Given the description of an element on the screen output the (x, y) to click on. 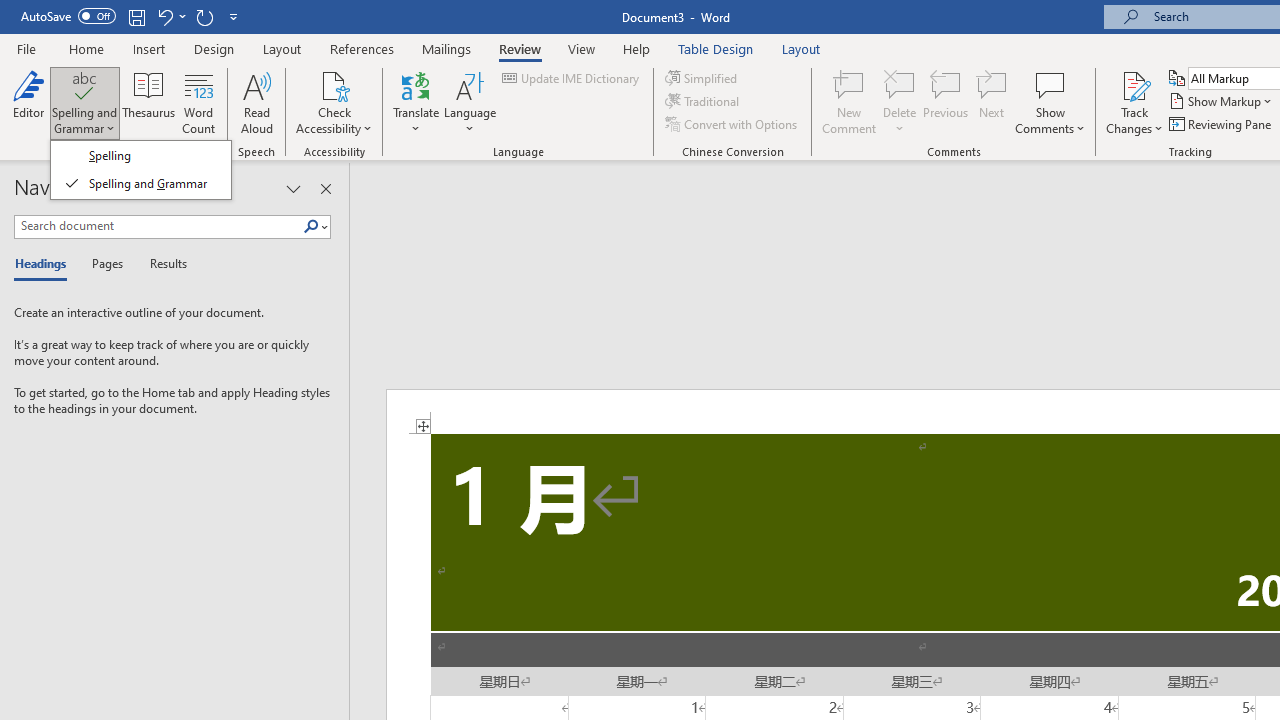
Check Accessibility (334, 102)
Spelling and &Grammar (140, 169)
Spelling and Grammar (84, 84)
Track Changes (1134, 84)
Read Aloud (256, 102)
